Given the description of an element on the screen output the (x, y) to click on. 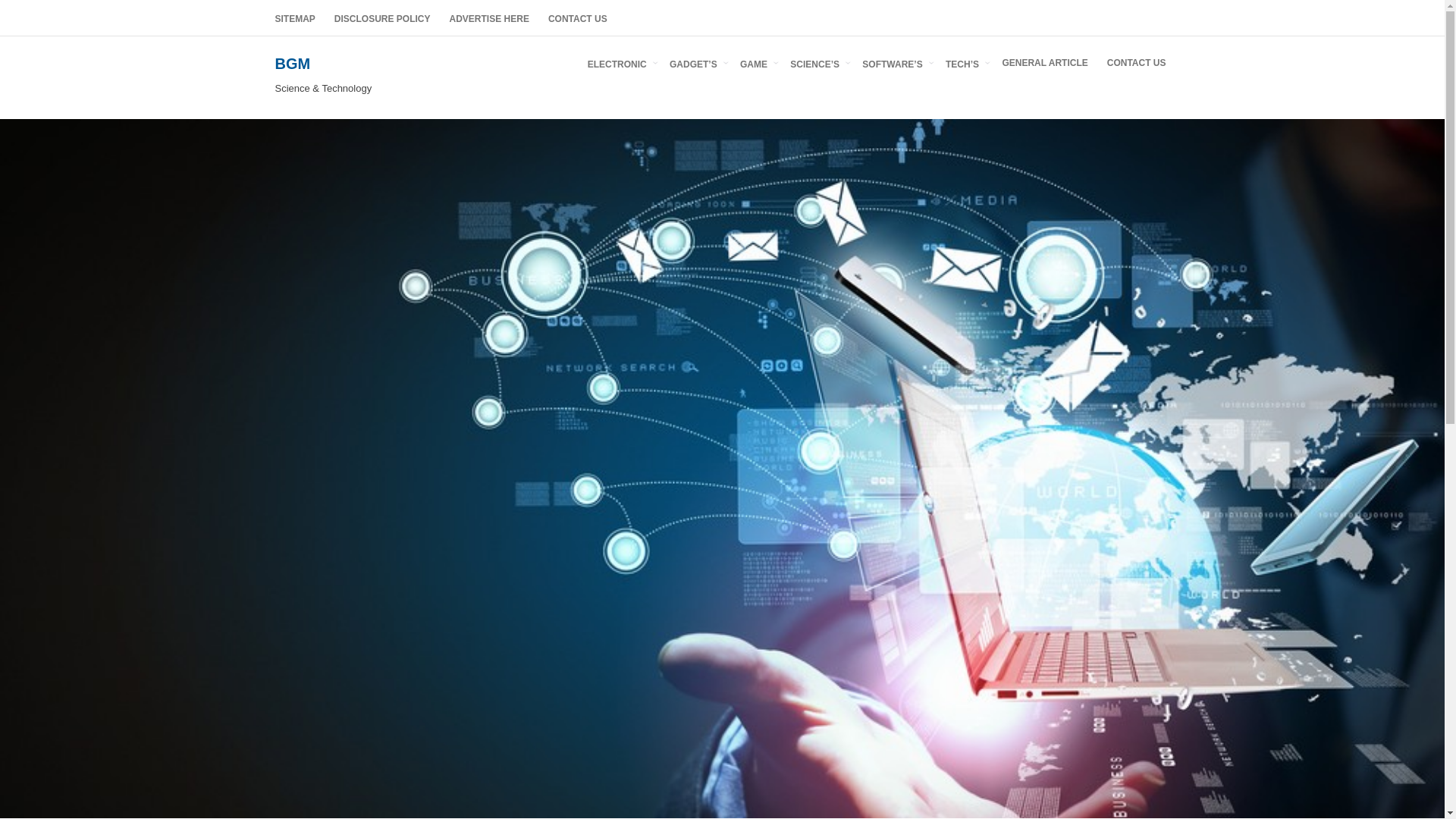
GAME (755, 62)
ADVERTISE HERE (489, 18)
SITEMAP (293, 18)
CONTACT US (1136, 61)
ELECTRONIC (618, 62)
GENERAL ARTICLE (1044, 61)
CONTACT US (577, 18)
BGM (292, 63)
DISCLOSURE POLICY (382, 18)
